Given the description of an element on the screen output the (x, y) to click on. 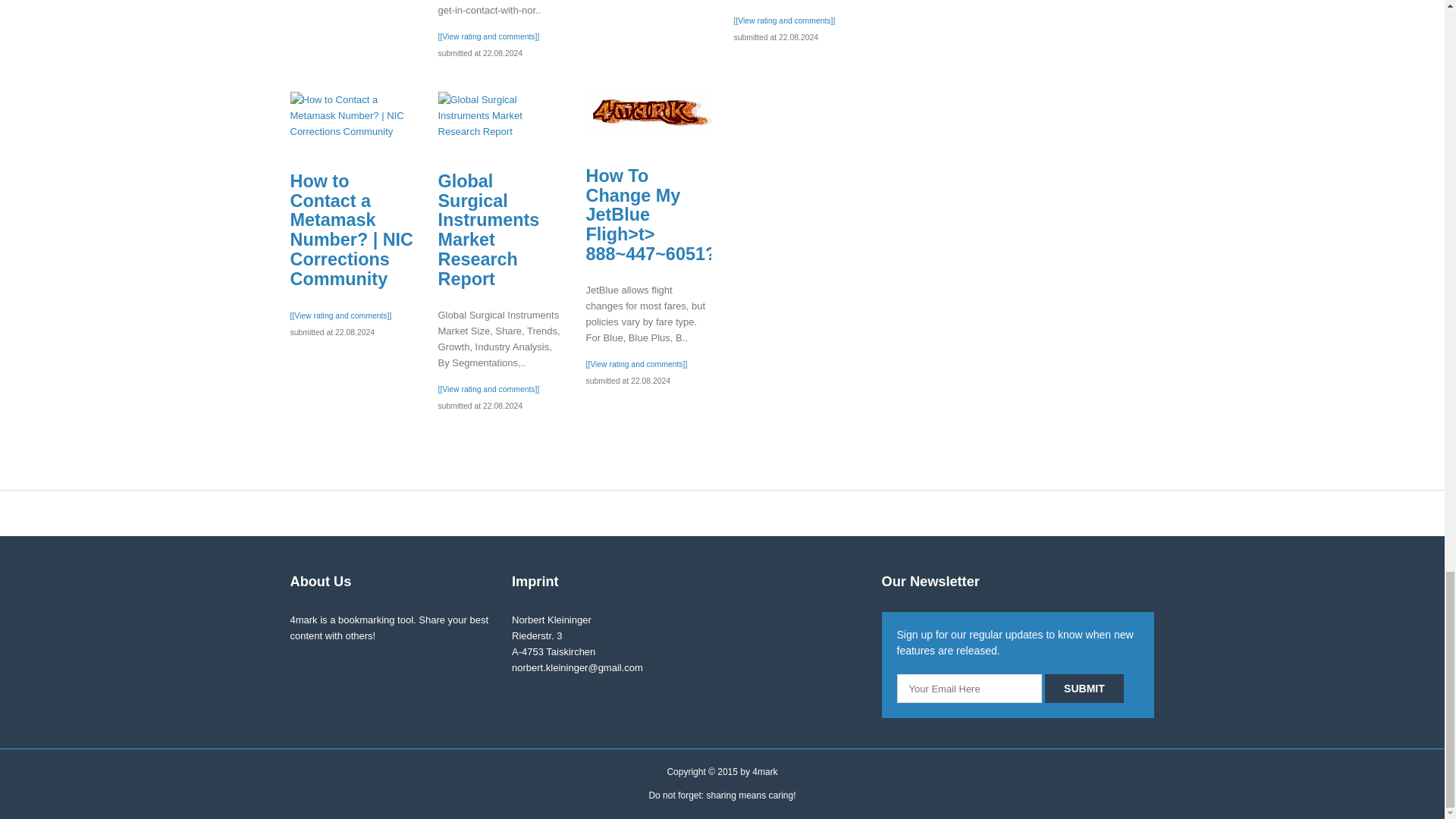
Submit (1084, 688)
Email (969, 688)
Global Surgical Instruments Market Research Report (500, 115)
